Given the description of an element on the screen output the (x, y) to click on. 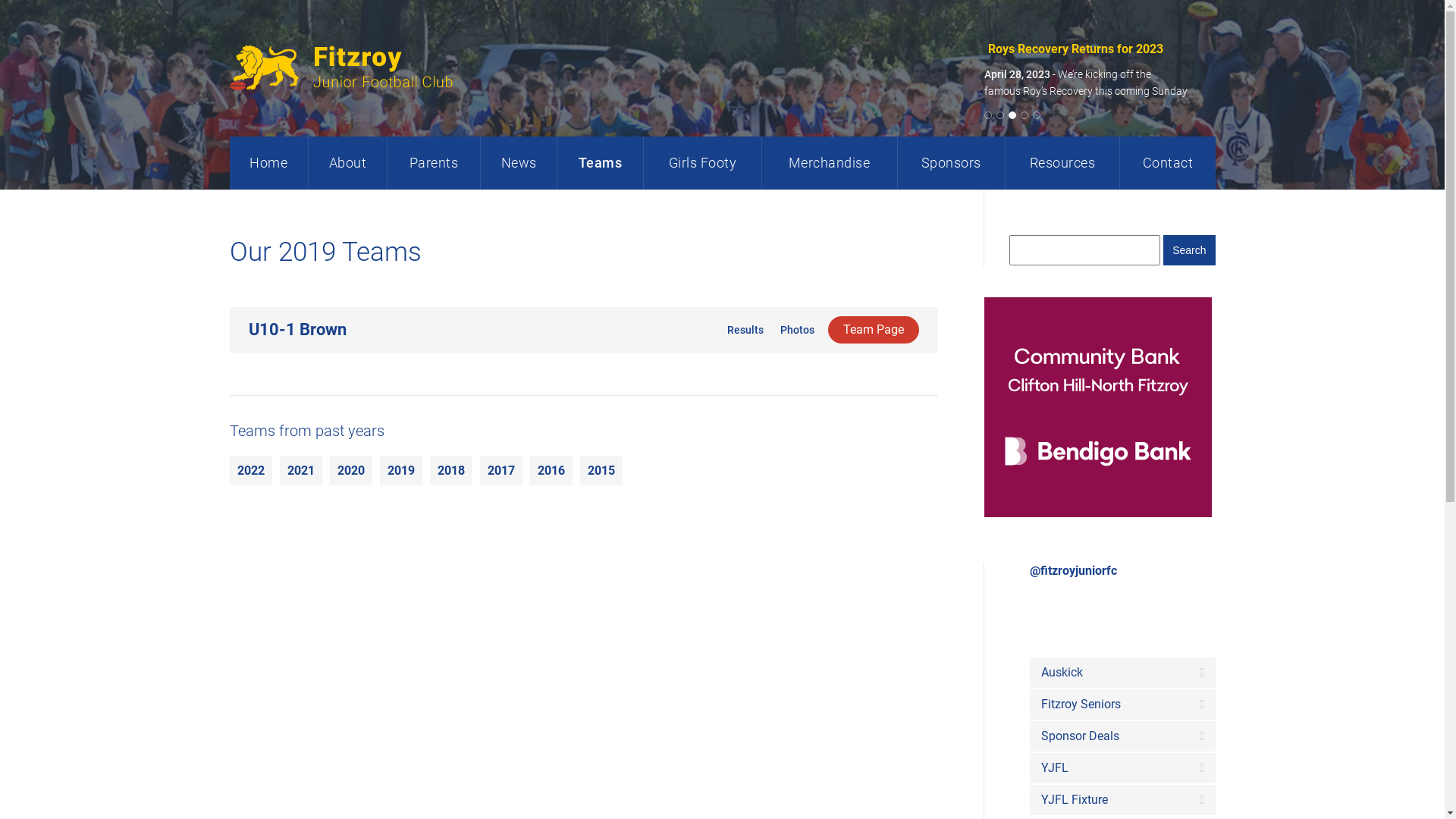
Team Page Element type: text (873, 329)
Sponsor Deals Element type: text (1122, 736)
2016 Element type: text (550, 470)
2015 Element type: text (600, 470)
2018 Element type: text (450, 470)
Contact Element type: text (1166, 162)
2 Element type: text (1002, 114)
Fitzroy Seniors Element type: text (1122, 704)
Home Element type: text (268, 162)
Auskick Element type: text (1122, 672)
About Element type: text (346, 162)
2019 Element type: text (400, 470)
2020 Element type: text (350, 470)
Results Element type: text (743, 329)
YJFL Fixture Element type: text (1122, 799)
5 Element type: text (1038, 114)
2021 Element type: text (300, 470)
2017 Element type: text (500, 470)
Search Element type: text (1188, 250)
@fitzroyjuniorfc Element type: text (1073, 570)
Parents Element type: text (433, 162)
Merchandise Element type: text (829, 162)
U10-1 Brown Element type: text (297, 329)
Girls Footy Element type: text (702, 162)
Photos Element type: text (795, 329)
News Element type: text (518, 162)
1 Element type: text (990, 114)
3 Element type: text (1014, 114)
YJFL Element type: text (1122, 768)
2022 Element type: text (250, 470)
Sponsors Element type: text (950, 162)
Resources Element type: text (1062, 162)
4 Element type: text (1026, 114)
Teams Element type: text (599, 162)
